Given the description of an element on the screen output the (x, y) to click on. 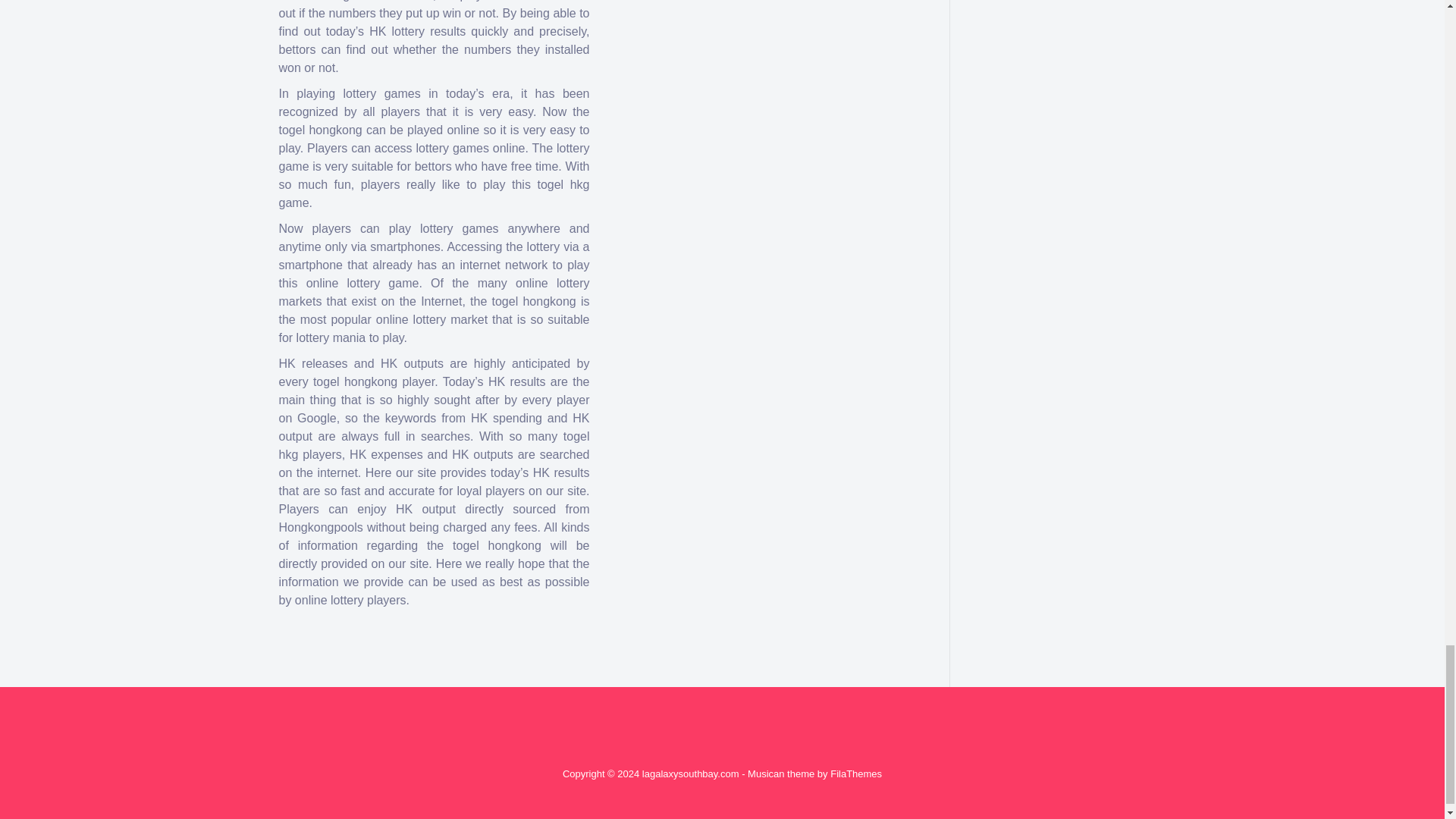
lagalaxysouthbay.com (690, 773)
